Given the description of an element on the screen output the (x, y) to click on. 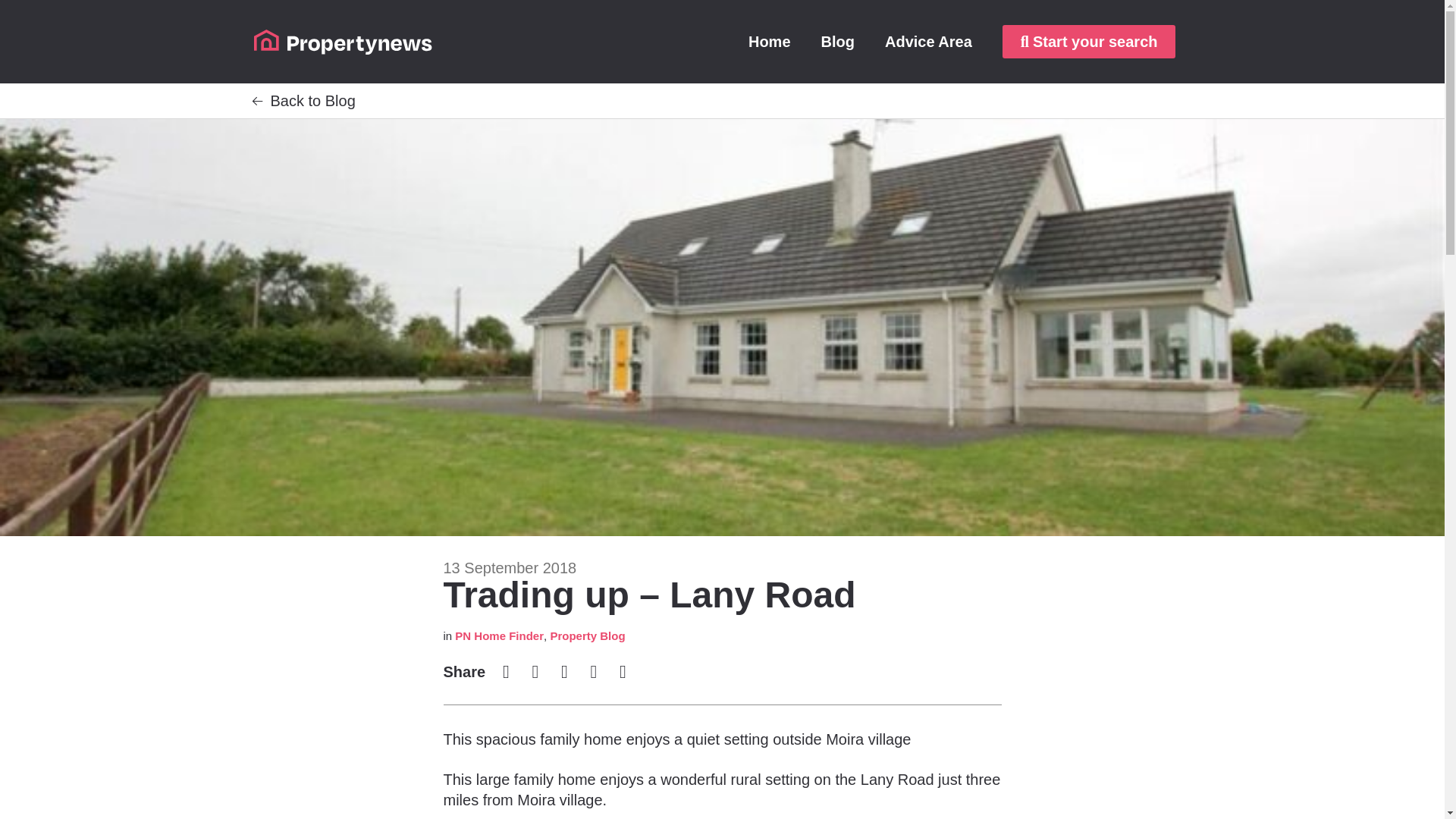
Start your search (1089, 41)
Back to Blog (312, 100)
Property Blog (587, 635)
Home (769, 41)
Blog (837, 41)
PN Home Finder (498, 635)
Advice Area (928, 41)
